Given the description of an element on the screen output the (x, y) to click on. 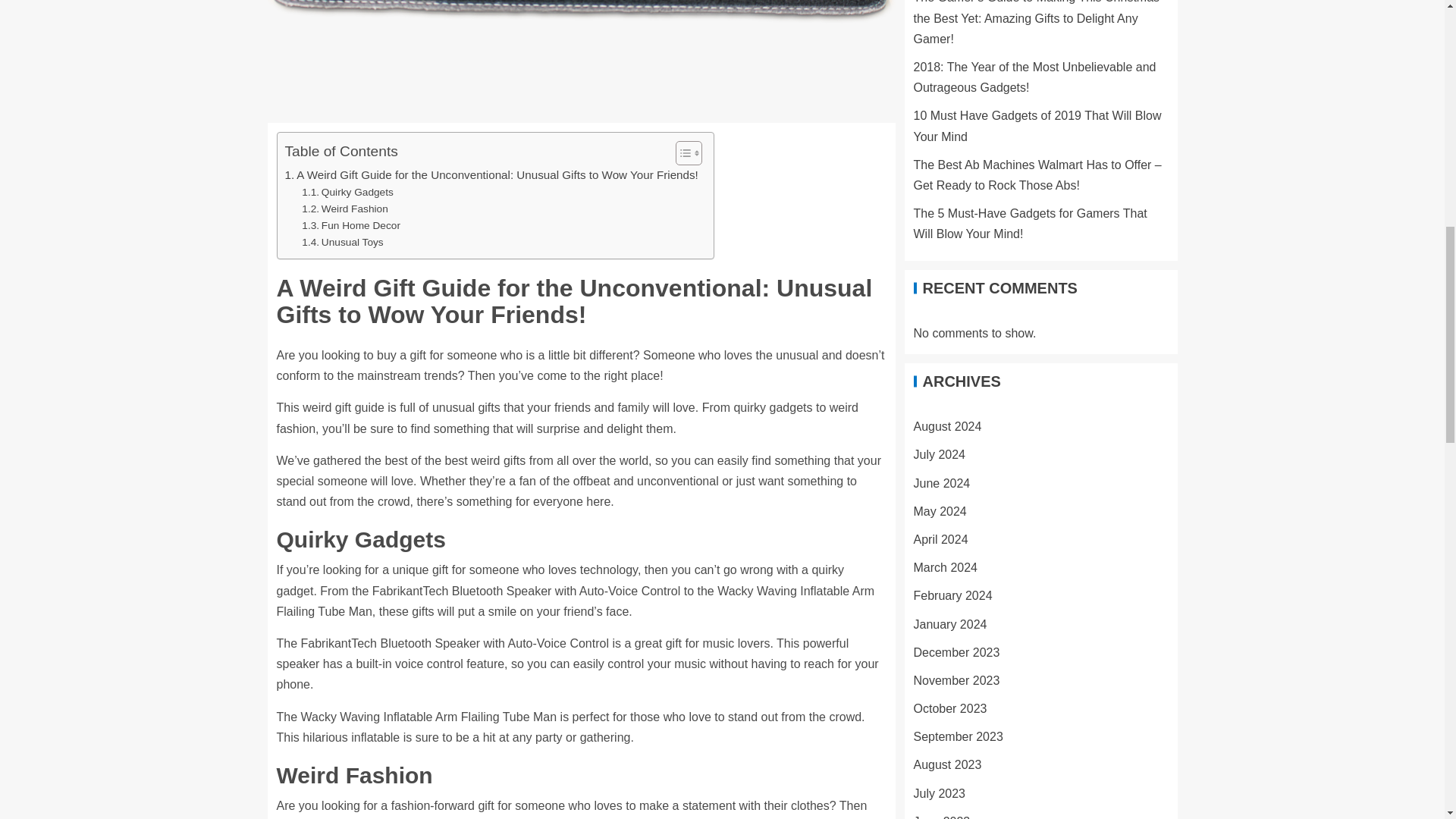
Quirky Gadgets (347, 192)
Unusual Toys (341, 242)
Fun Home Decor (350, 225)
Quirky Gadgets (347, 192)
Unusual Toys (341, 242)
Weird Fashion (344, 208)
Fun Home Decor (350, 225)
Weird Fashion (344, 208)
